Given the description of an element on the screen output the (x, y) to click on. 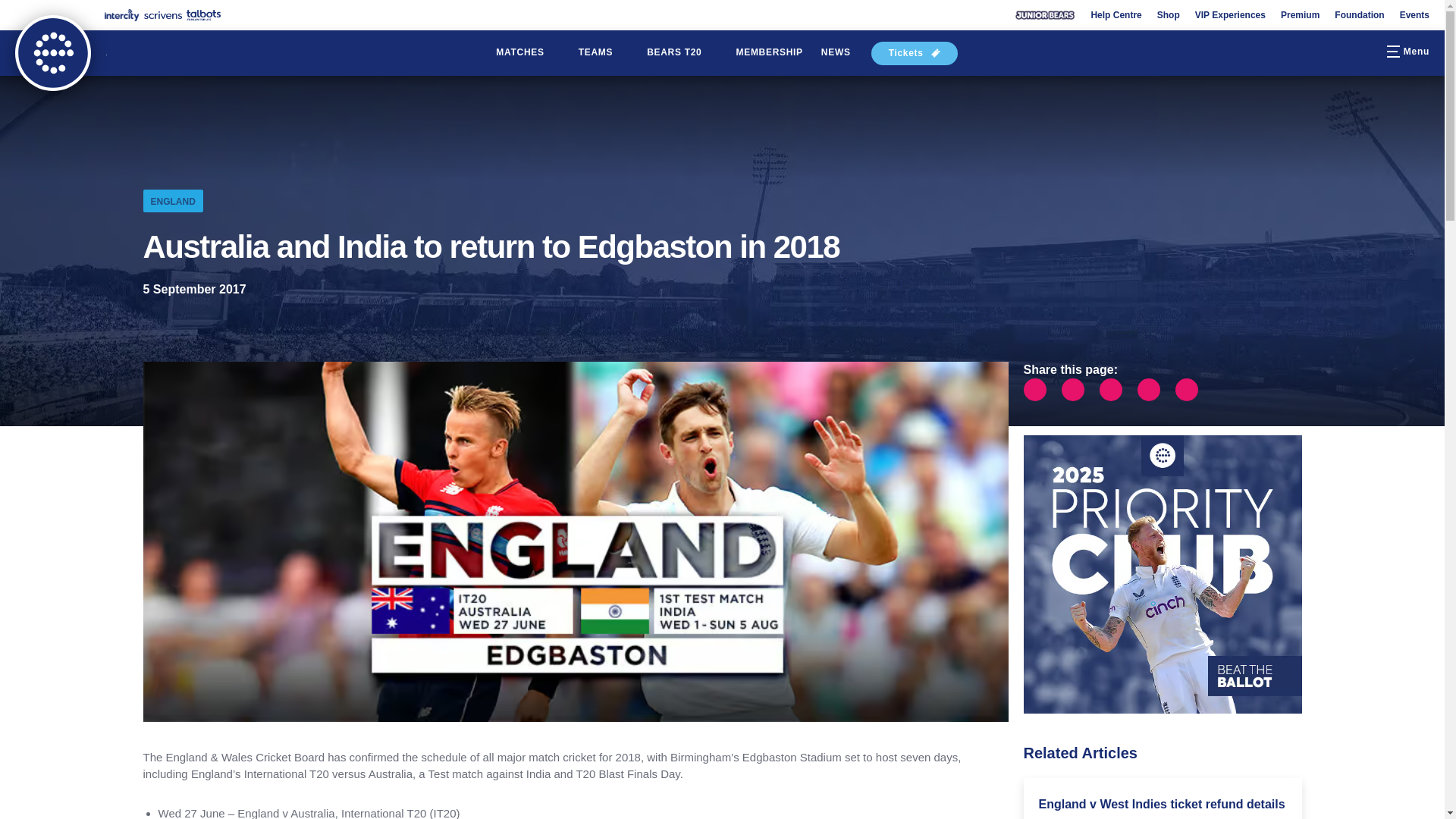
Help Centre (1115, 14)
Events (1414, 14)
NEWS (836, 53)
Premium (1300, 14)
MEMBERSHIP (768, 53)
VIP Experiences (1230, 14)
MATCHES (527, 53)
Foundation (1359, 14)
Tickets (914, 52)
BEARS T20 (681, 53)
